Given the description of an element on the screen output the (x, y) to click on. 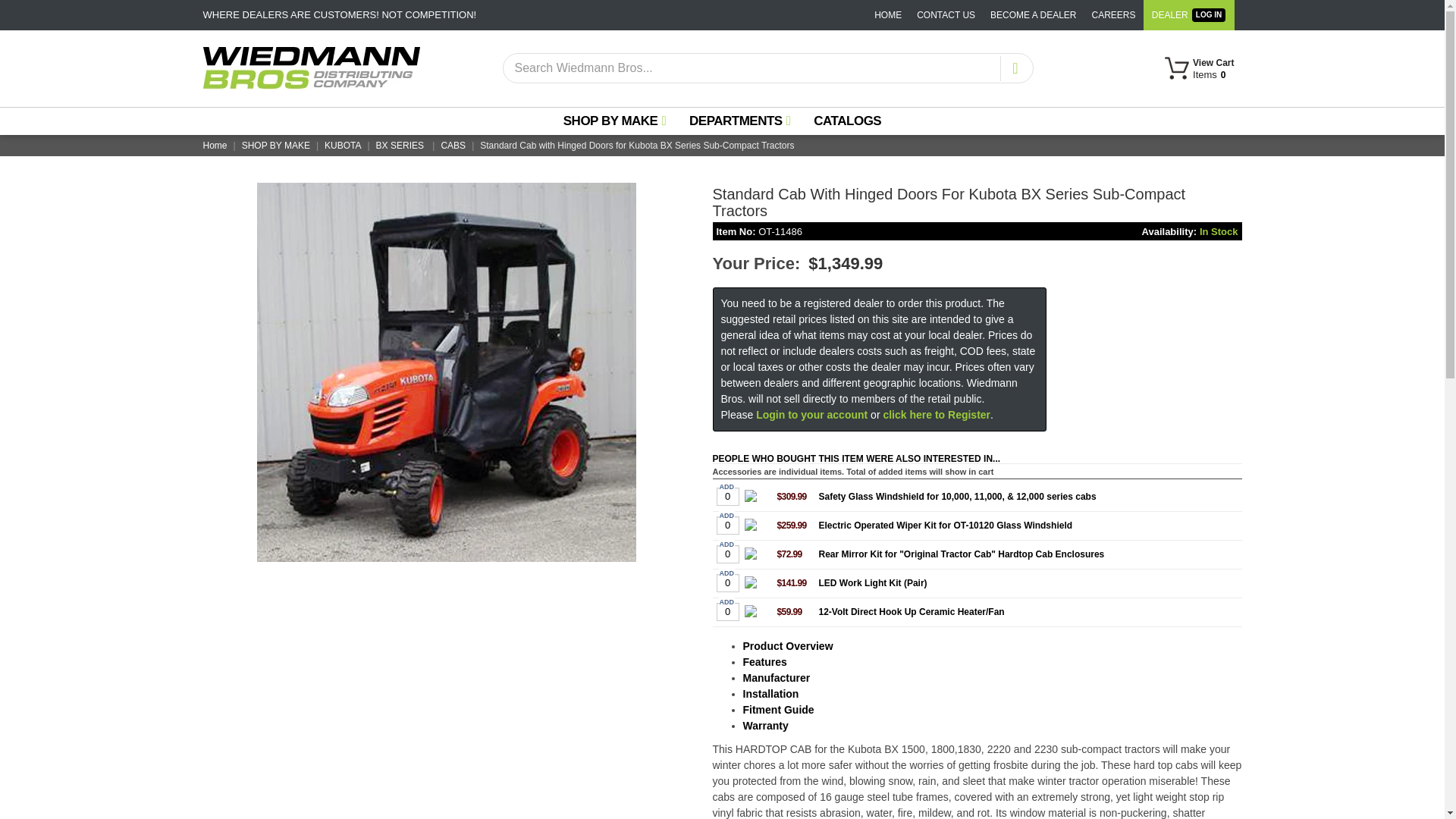
Search button (1013, 68)
CONTACT US (945, 15)
0 (727, 582)
BECOME A DEALER (1032, 15)
CAREERS (1112, 15)
0 (1199, 77)
0 (727, 524)
0 (727, 610)
SHOP BY MAKE (727, 496)
